Given the description of an element on the screen output the (x, y) to click on. 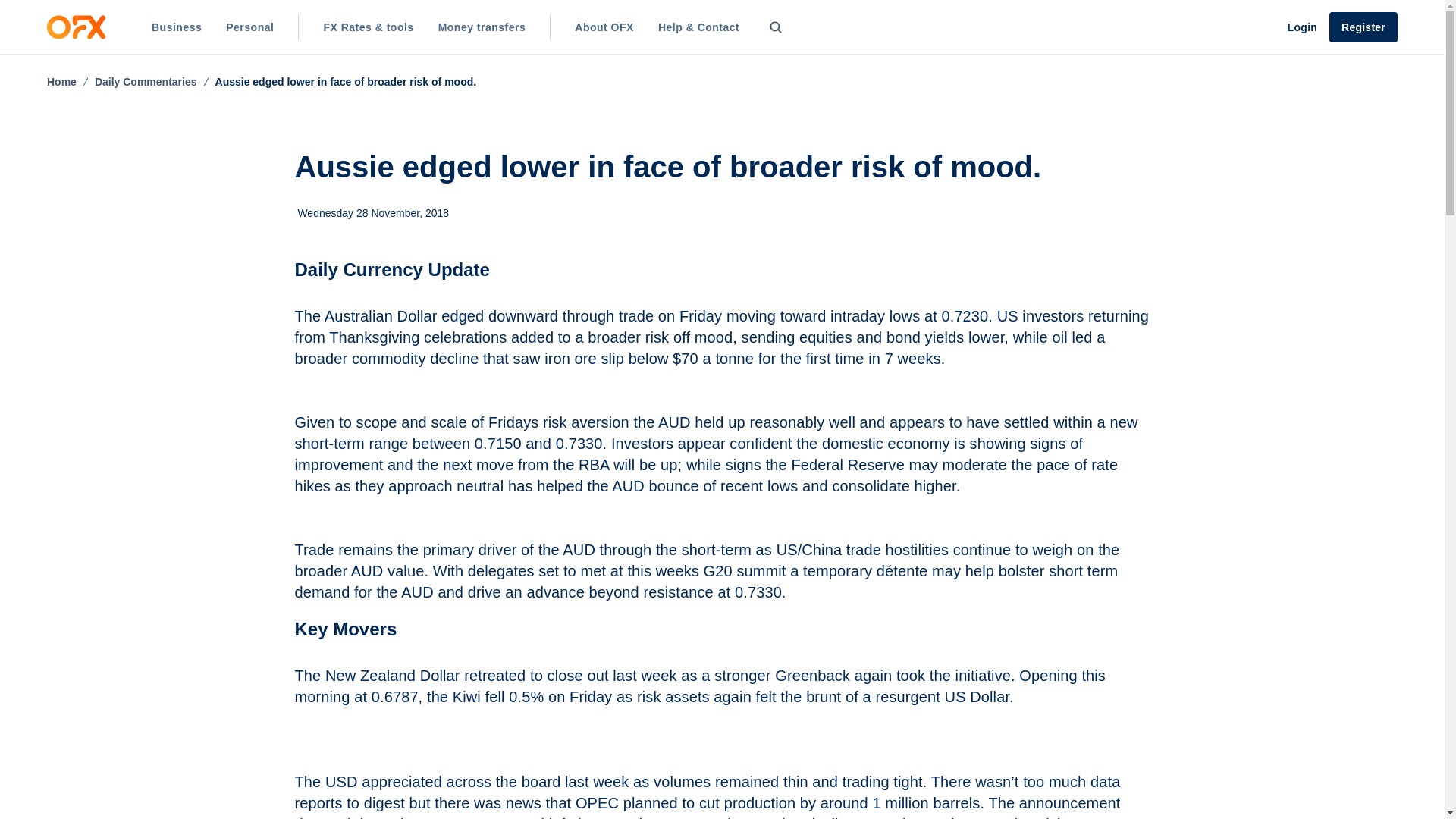
Business (176, 27)
Personal (249, 27)
